Given the description of an element on the screen output the (x, y) to click on. 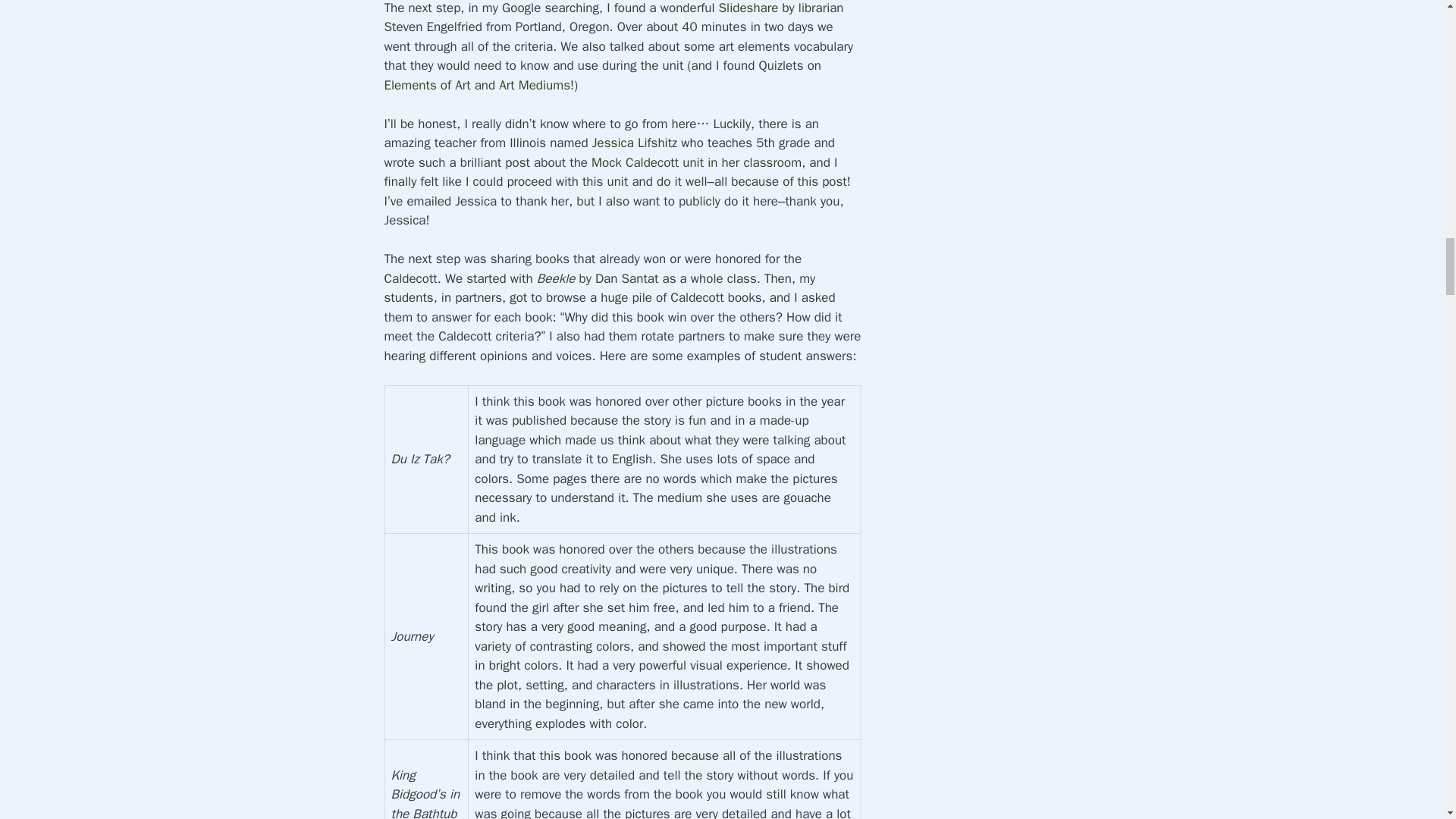
Mock Caldecott unit in her classroom (696, 162)
Art Mediums (534, 84)
Elements of Art (427, 84)
Jessica Lifshitz (634, 142)
Slideshare (748, 7)
